Given the description of an element on the screen output the (x, y) to click on. 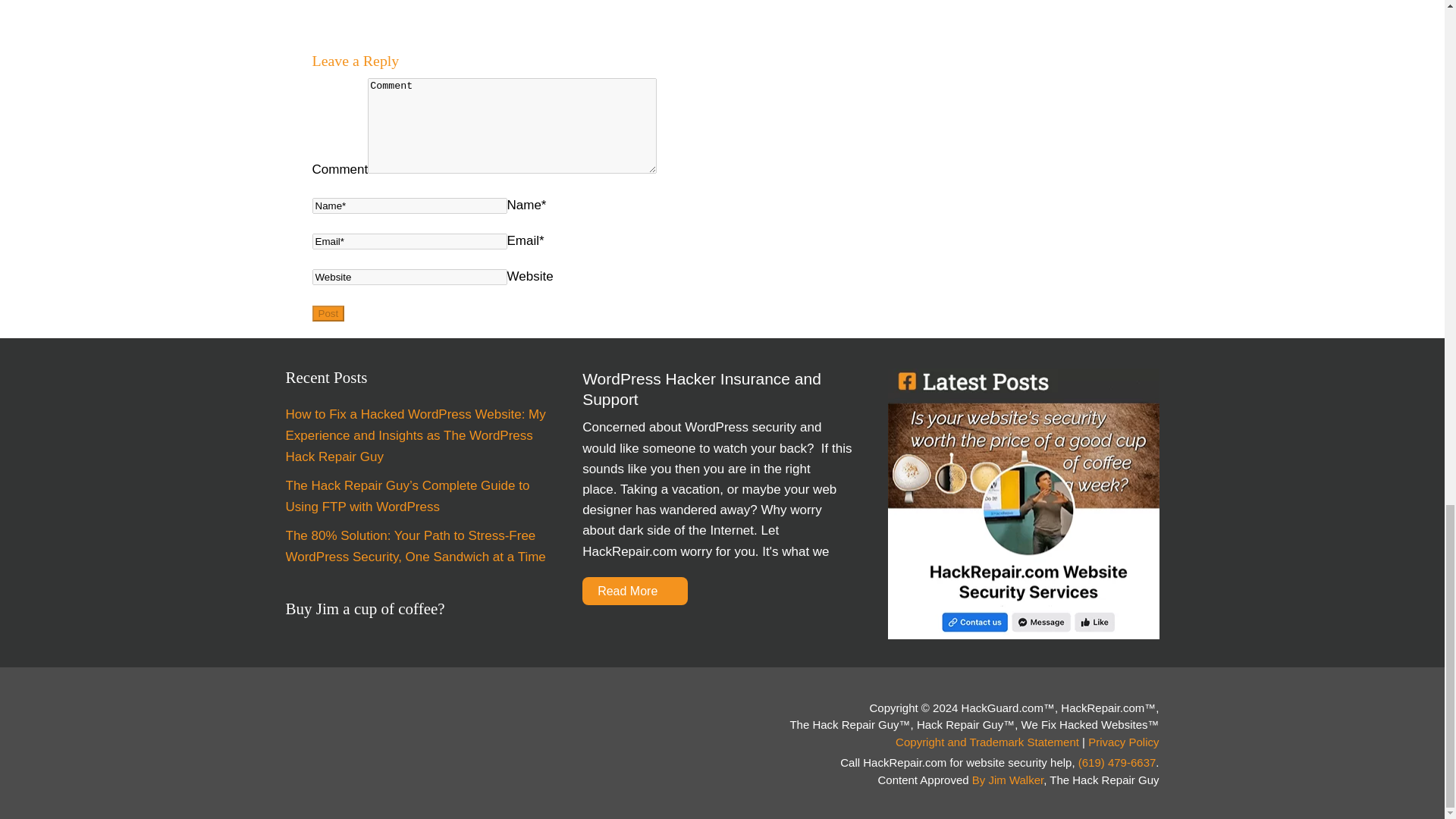
Post (329, 313)
